Given the description of an element on the screen output the (x, y) to click on. 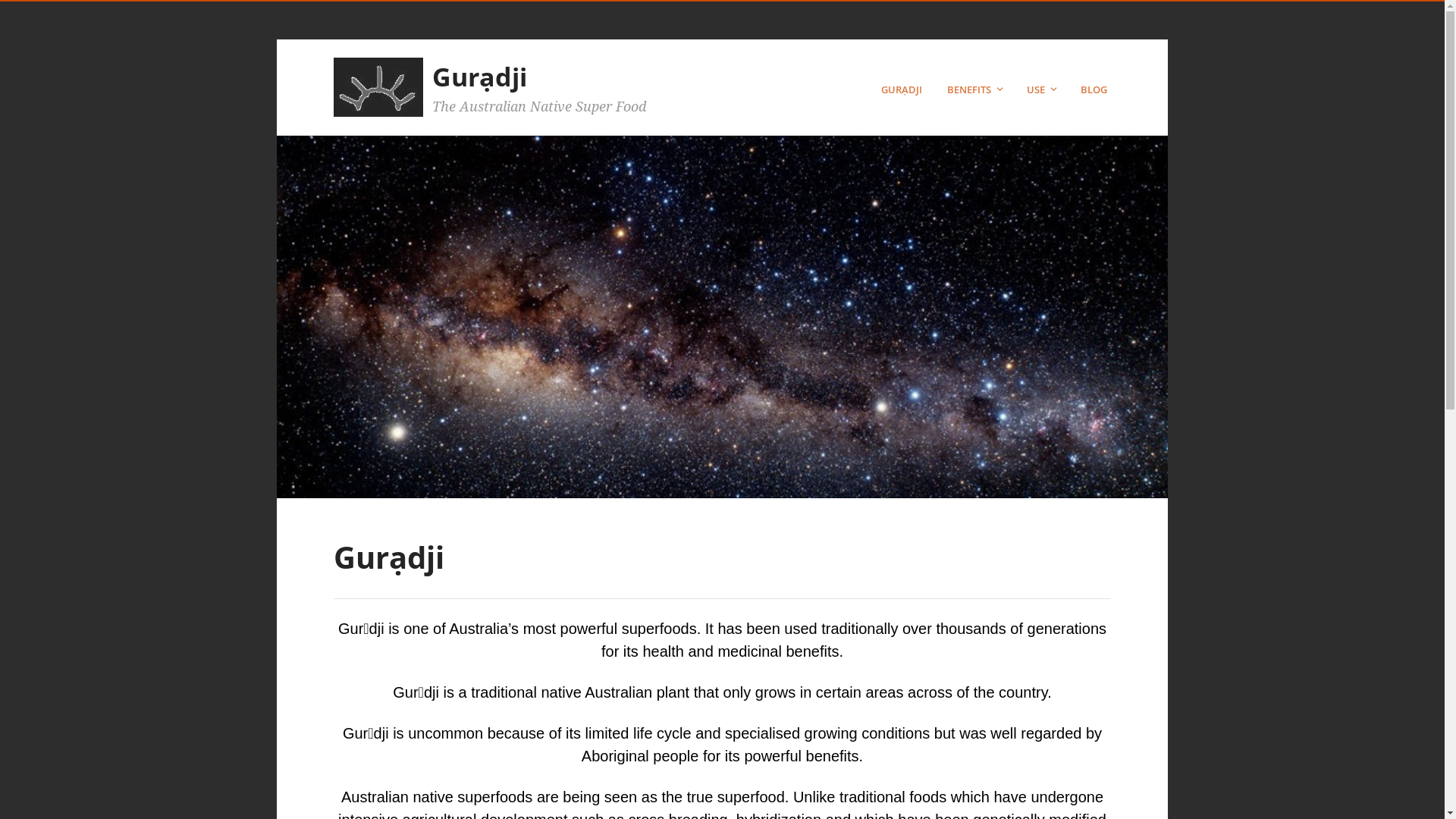
BLOG Element type: text (1095, 89)
BENEFITS Element type: text (976, 89)
USE Element type: text (1042, 89)
